Given the description of an element on the screen output the (x, y) to click on. 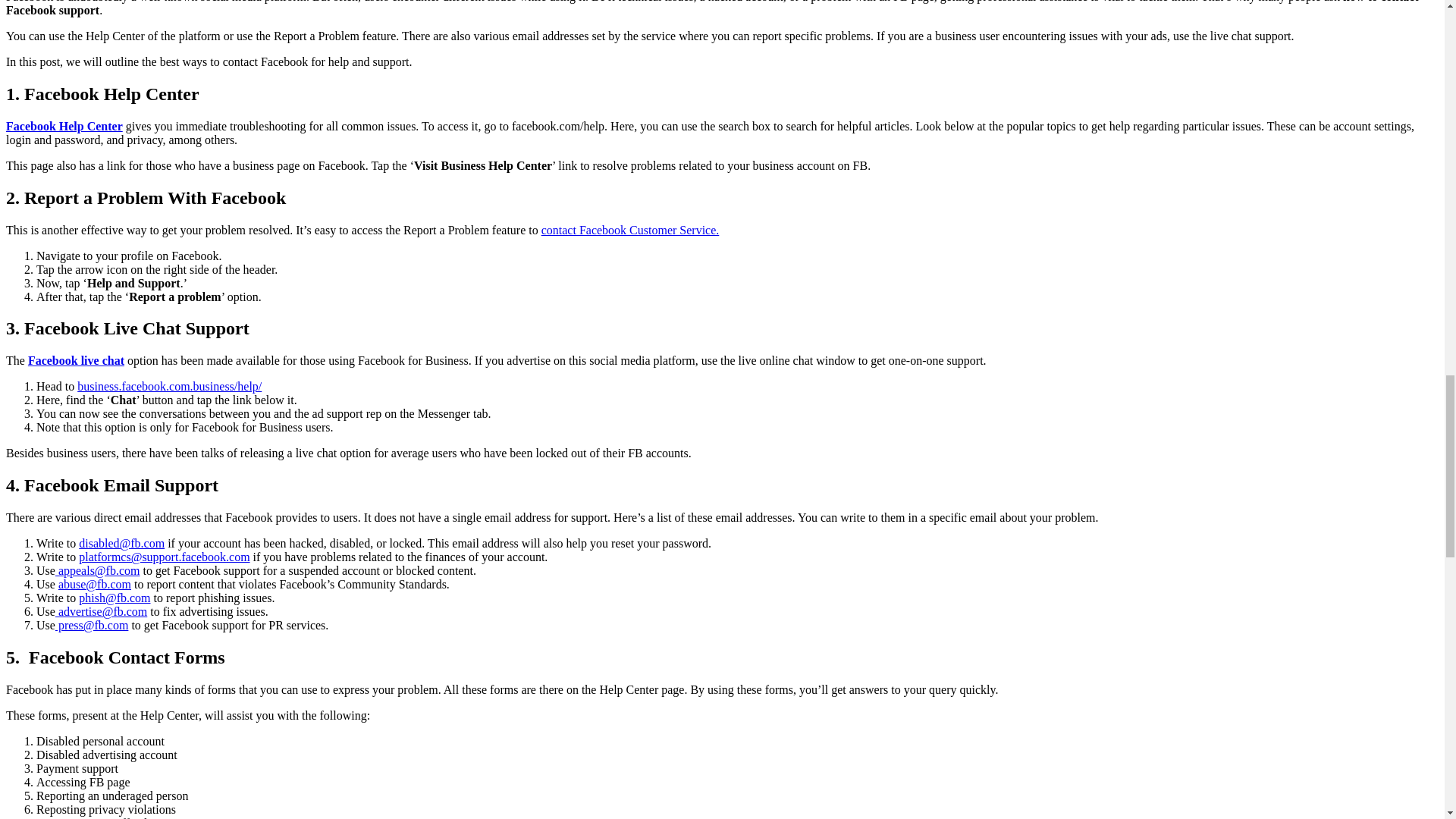
Facebook Help Center (63, 125)
contact Facebook Customer Service. (630, 228)
Facebook live chat (75, 359)
